Given the description of an element on the screen output the (x, y) to click on. 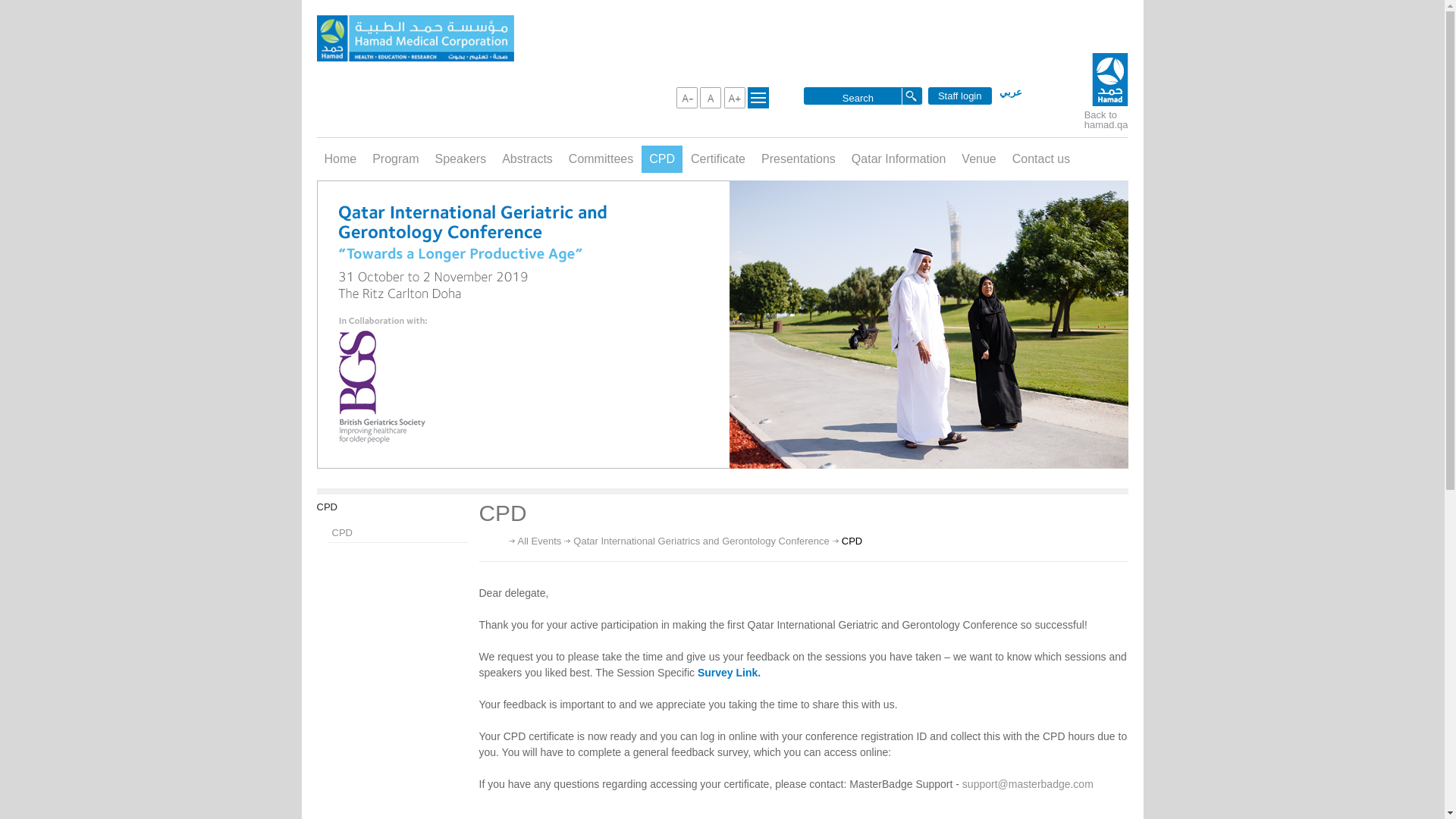
Search (857, 97)
Speakers (461, 158)
Qatar Information (898, 158)
Change contrast (758, 97)
CPD (397, 532)
Committees (600, 158)
Certificate (717, 158)
CPD (662, 158)
Font resize (710, 97)
Font resize (687, 97)
Qatar International Geriatrics and Gerontology Conference (700, 541)
Home (341, 158)
Staff login (959, 95)
Survey Link (727, 672)
Presentations (798, 158)
